Given the description of an element on the screen output the (x, y) to click on. 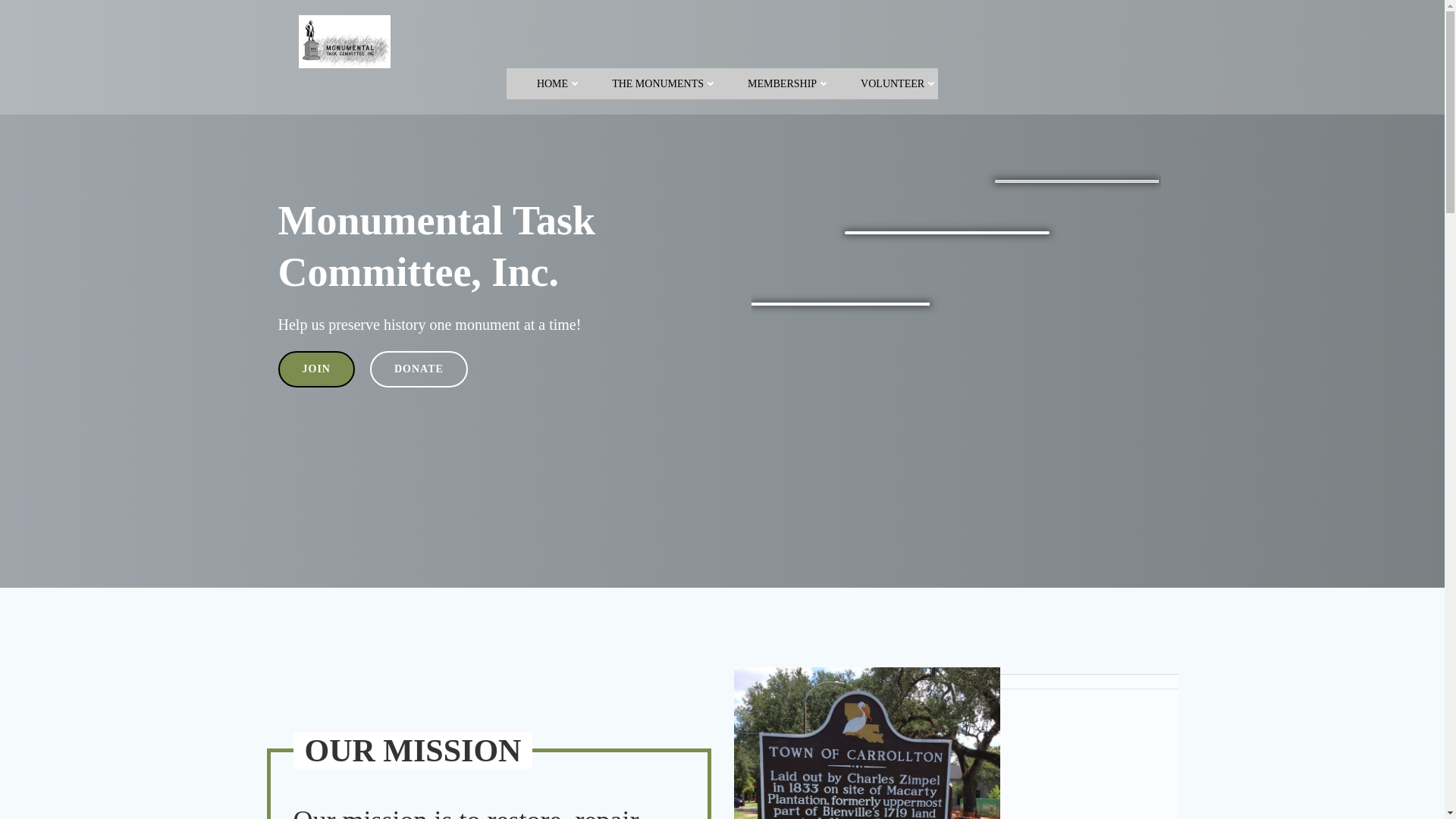
MEMBERSHIP (788, 83)
HOME (558, 83)
VOLUNTEER (898, 83)
THE MONUMENTS (664, 83)
